Given the description of an element on the screen output the (x, y) to click on. 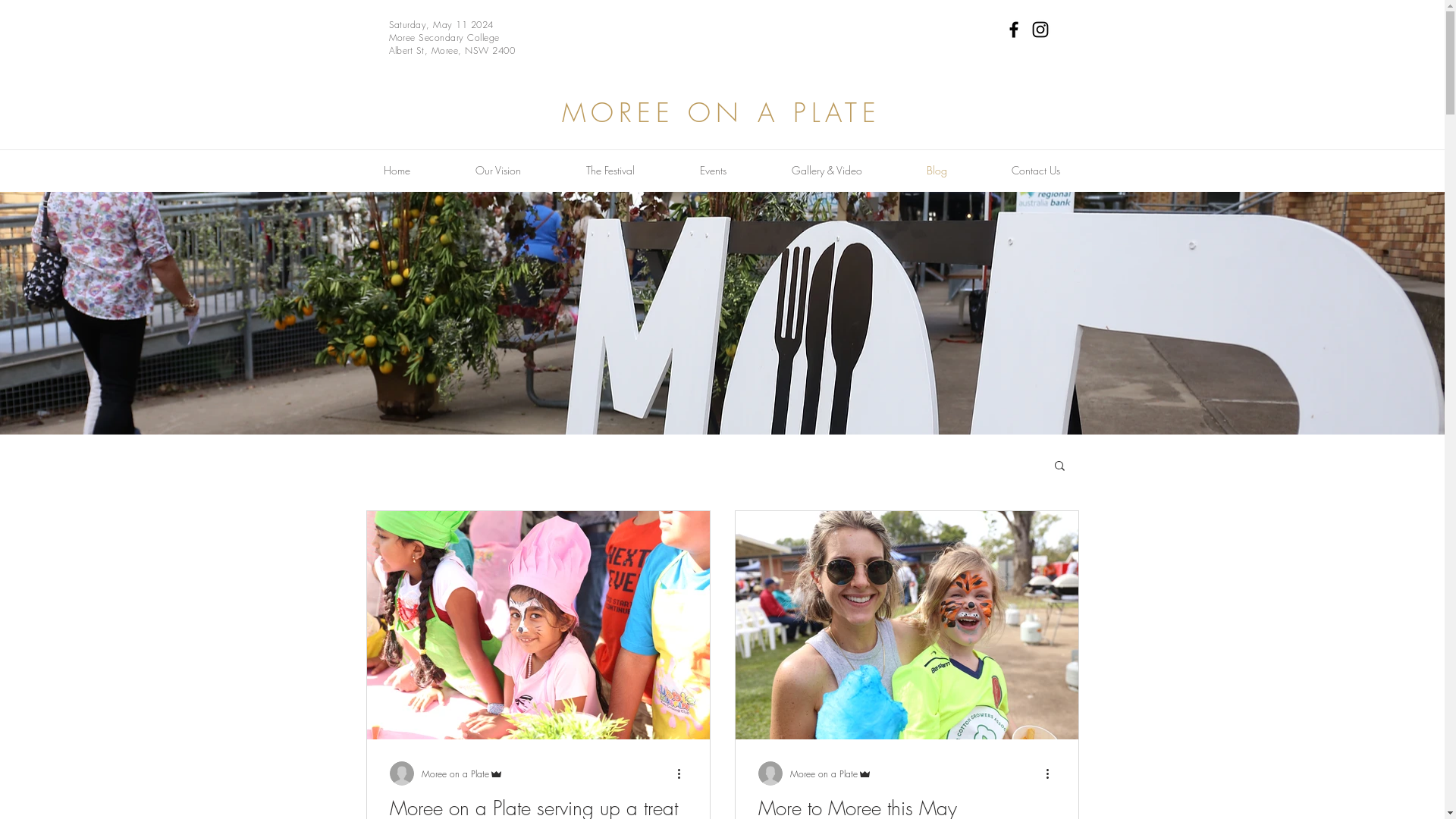
Gallery & Video Element type: text (826, 169)
MOREE ON A PLATE Element type: text (721, 112)
Contact Us Element type: text (1035, 169)
Our Vision Element type: text (497, 169)
Blog Element type: text (936, 169)
Events Element type: text (713, 169)
Home Element type: text (396, 169)
The Festival Element type: text (610, 169)
